Given the description of an element on the screen output the (x, y) to click on. 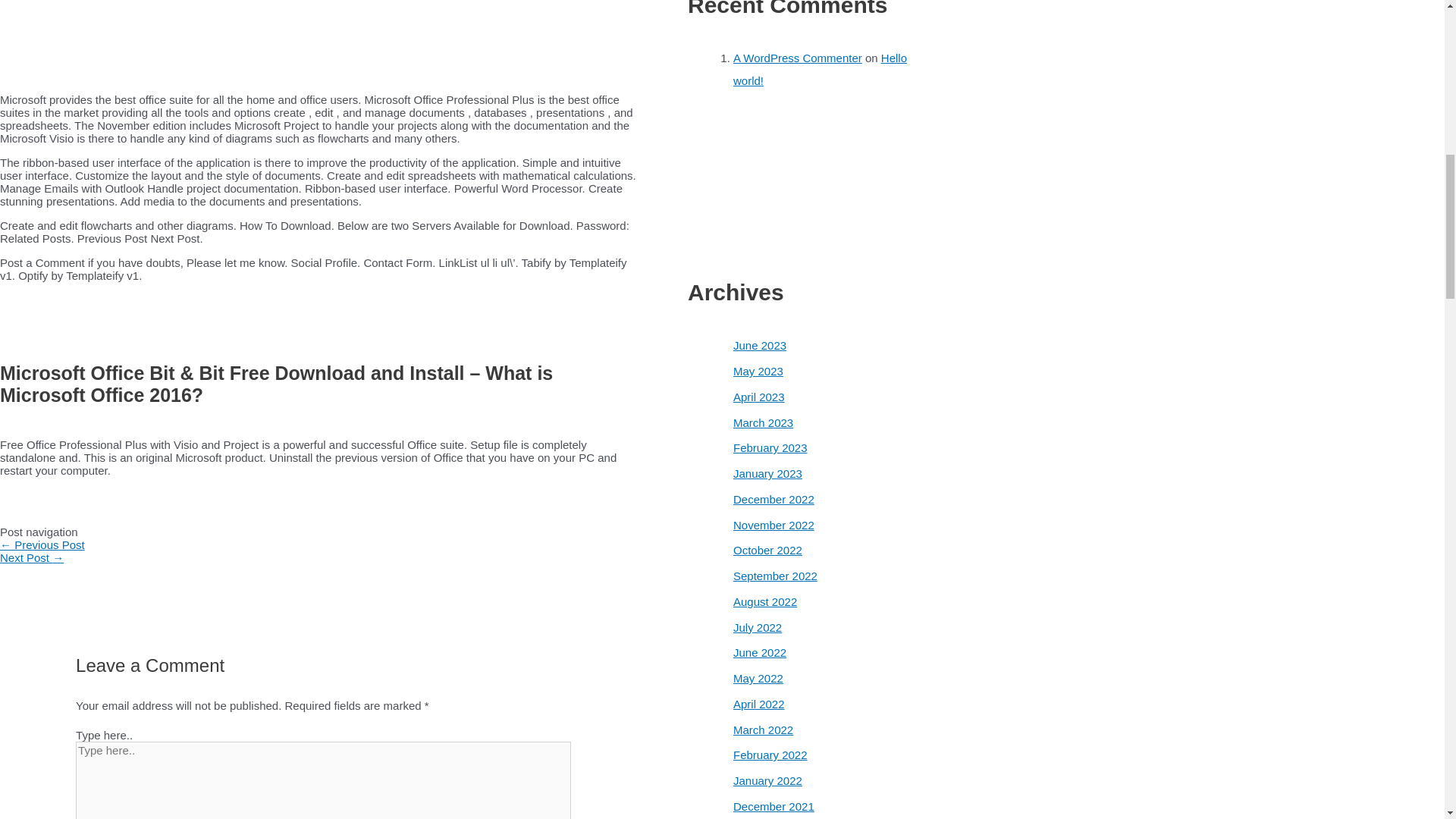
January 2023 (767, 472)
December 2022 (773, 499)
April 2023 (758, 396)
Hello world! (820, 68)
October 2022 (767, 549)
June 2023 (759, 345)
May 2022 (758, 677)
June 2022 (759, 652)
February 2023 (770, 447)
March 2023 (763, 422)
